Given the description of an element on the screen output the (x, y) to click on. 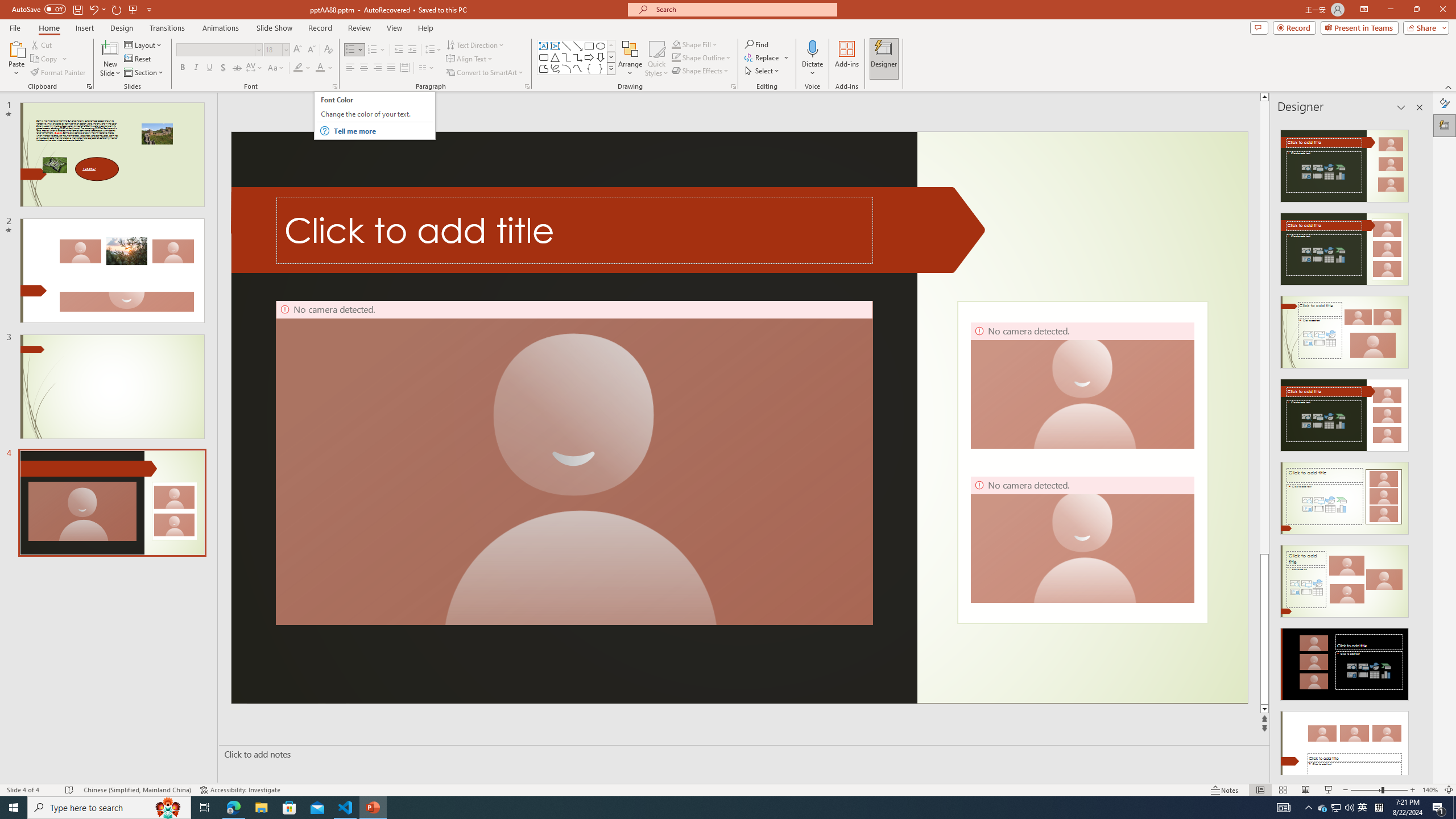
Shape Outline Teal, Accent 1 (675, 56)
Tell me more (382, 130)
